Given the description of an element on the screen output the (x, y) to click on. 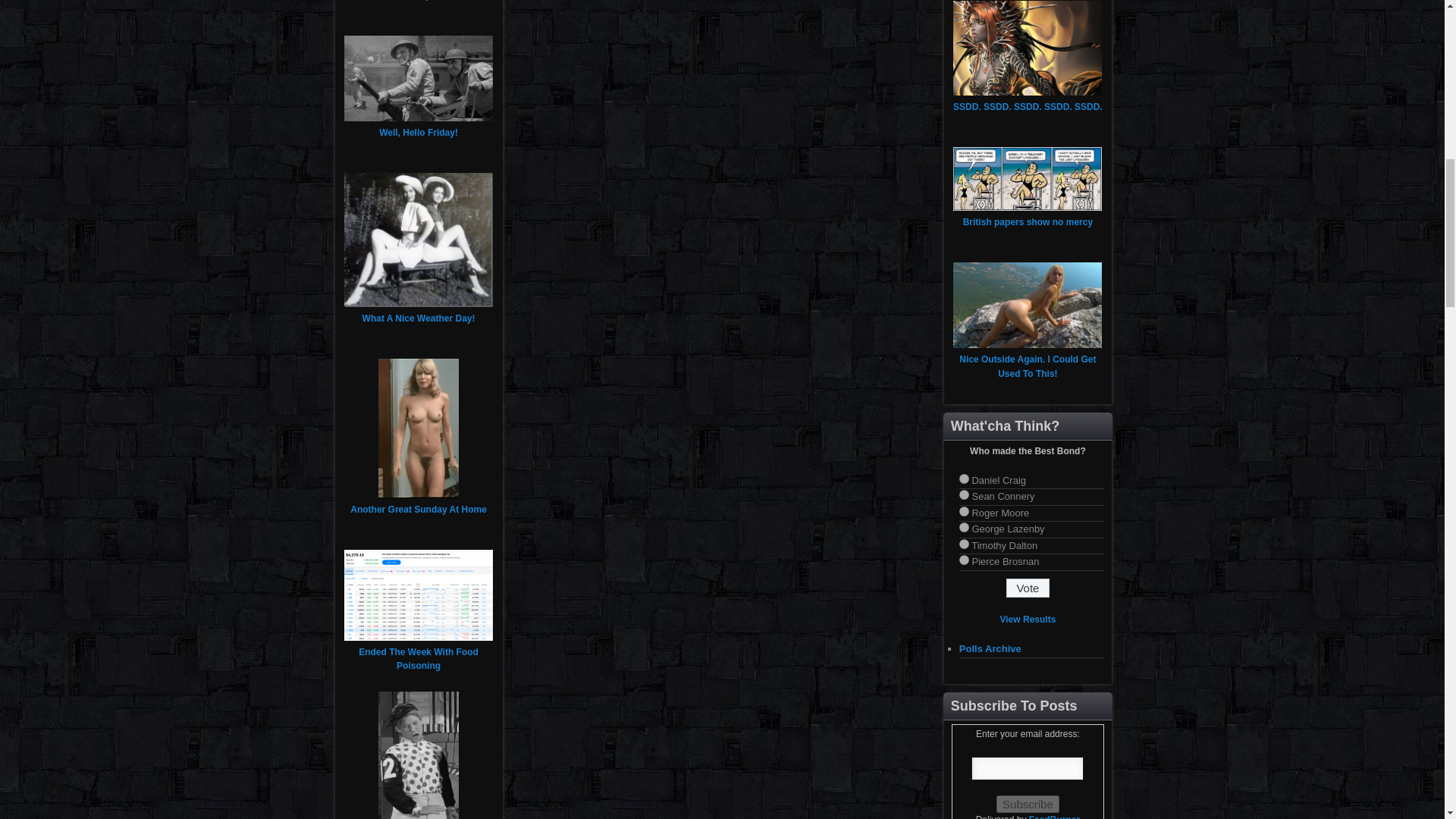
24 (964, 527)
25 (964, 543)
26 (964, 560)
23 (964, 511)
21 (964, 479)
Well, Hello Friday! (418, 132)
What A Nice Weather Day! (419, 317)
   Vote    (1027, 588)
Another Great Sunday At Home (418, 509)
